Given the description of an element on the screen output the (x, y) to click on. 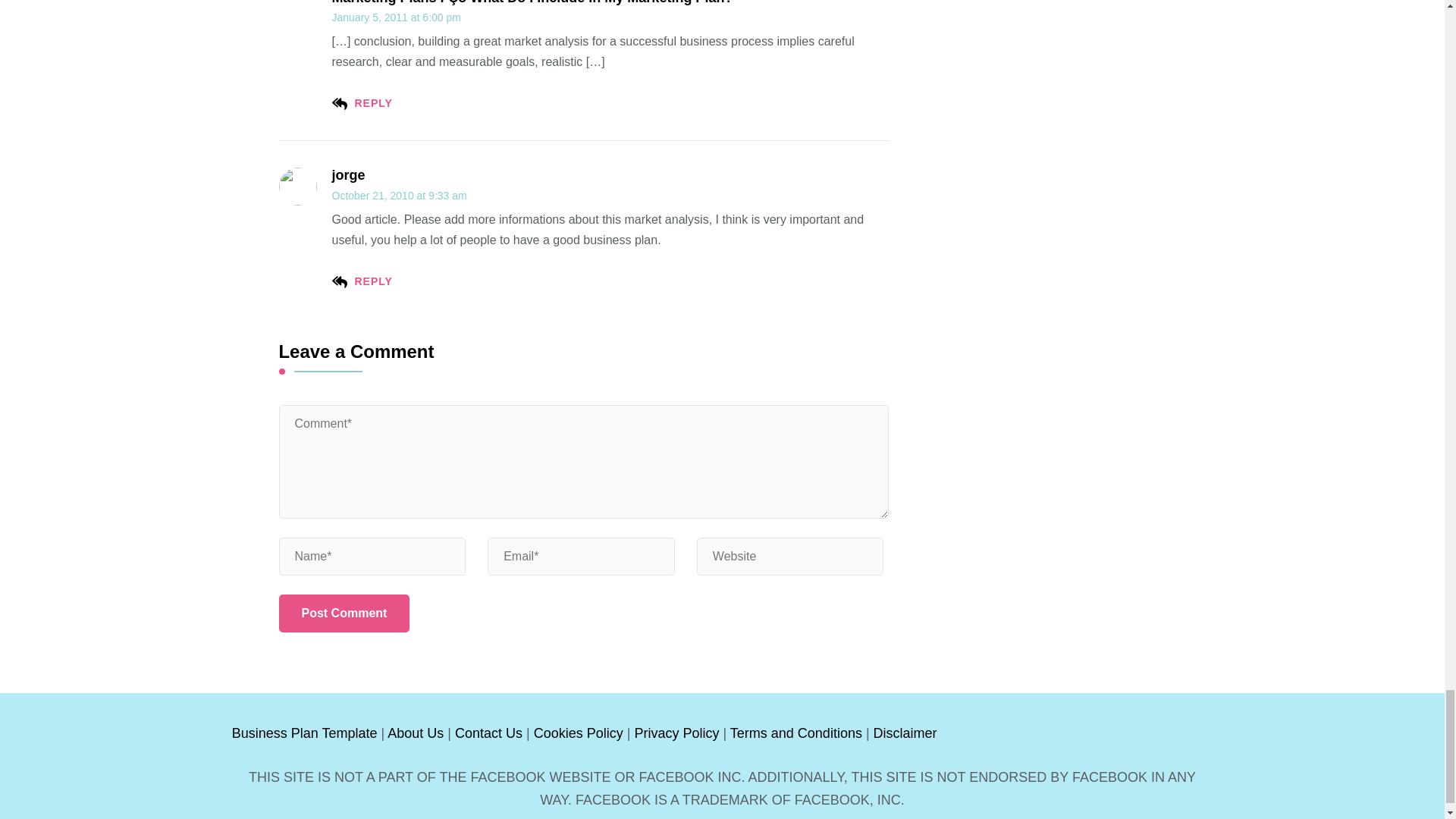
Post Comment (344, 613)
